Given the description of an element on the screen output the (x, y) to click on. 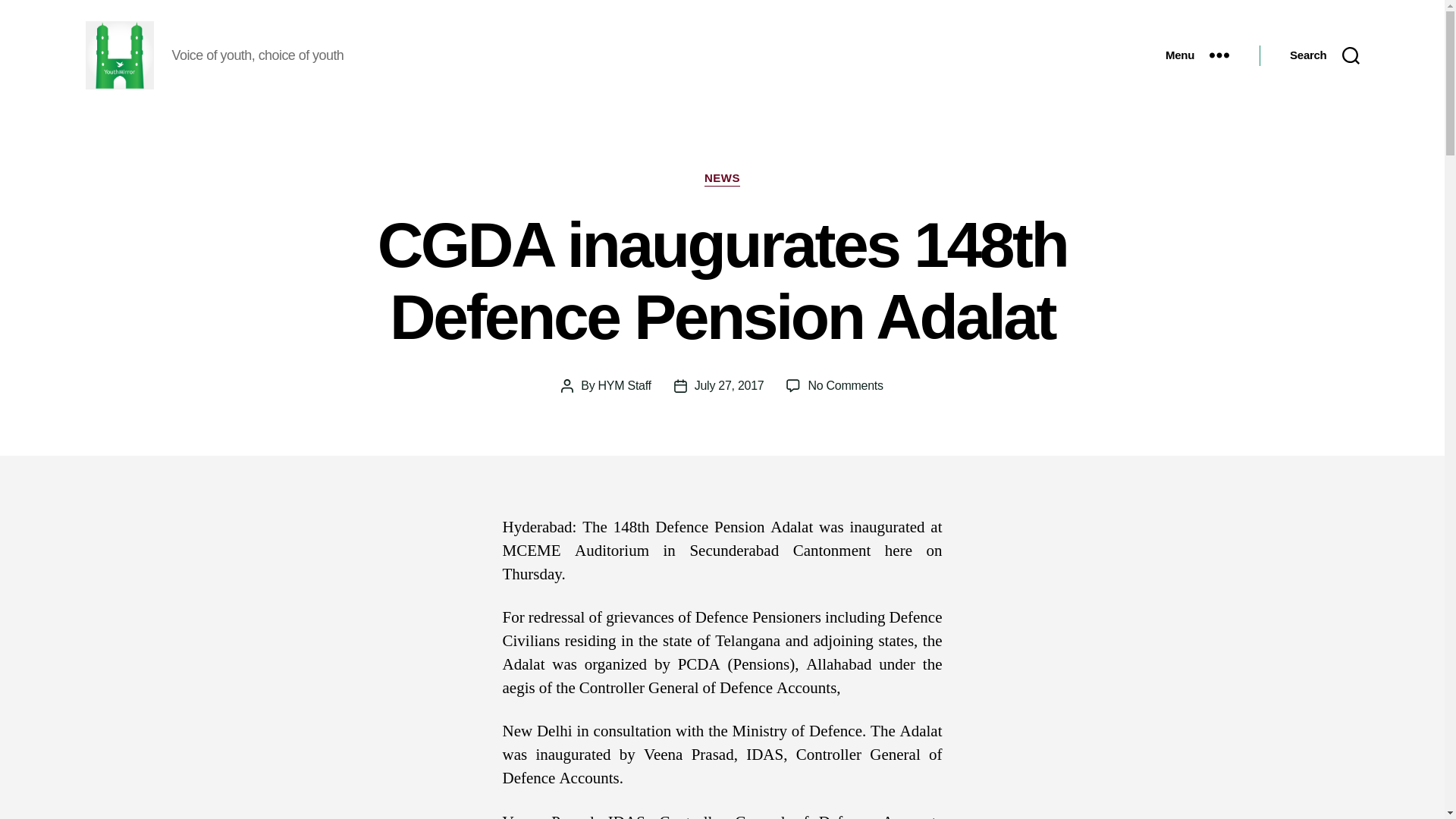
NEWS (721, 178)
Search (1324, 55)
HYM Staff (624, 385)
Menu (1197, 55)
July 27, 2017 (845, 385)
